Given the description of an element on the screen output the (x, y) to click on. 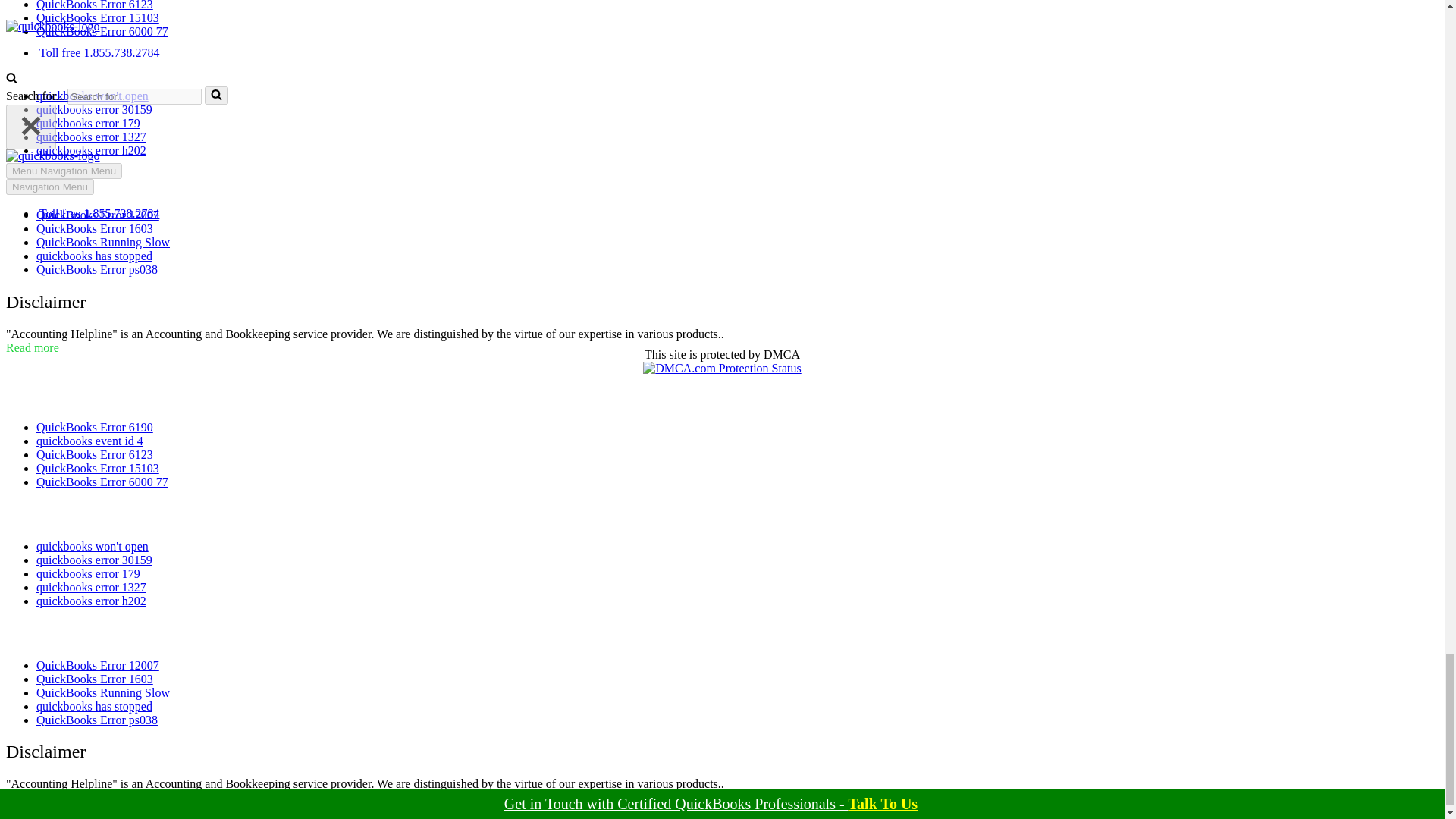
quickbooks error h202 (91, 150)
quickbooks error 30159 (94, 109)
DMCA.com Protection Status (721, 367)
quickbooks won't open (92, 95)
QuickBooks Error 6123 (94, 5)
QuickBooks Error 6000 77 (102, 31)
quickbooks error 1327 (91, 136)
QuickBooks Error 15103 (97, 17)
quickbooks error 179 (87, 123)
QuickBooks Error 12007 (97, 214)
